Given the description of an element on the screen output the (x, y) to click on. 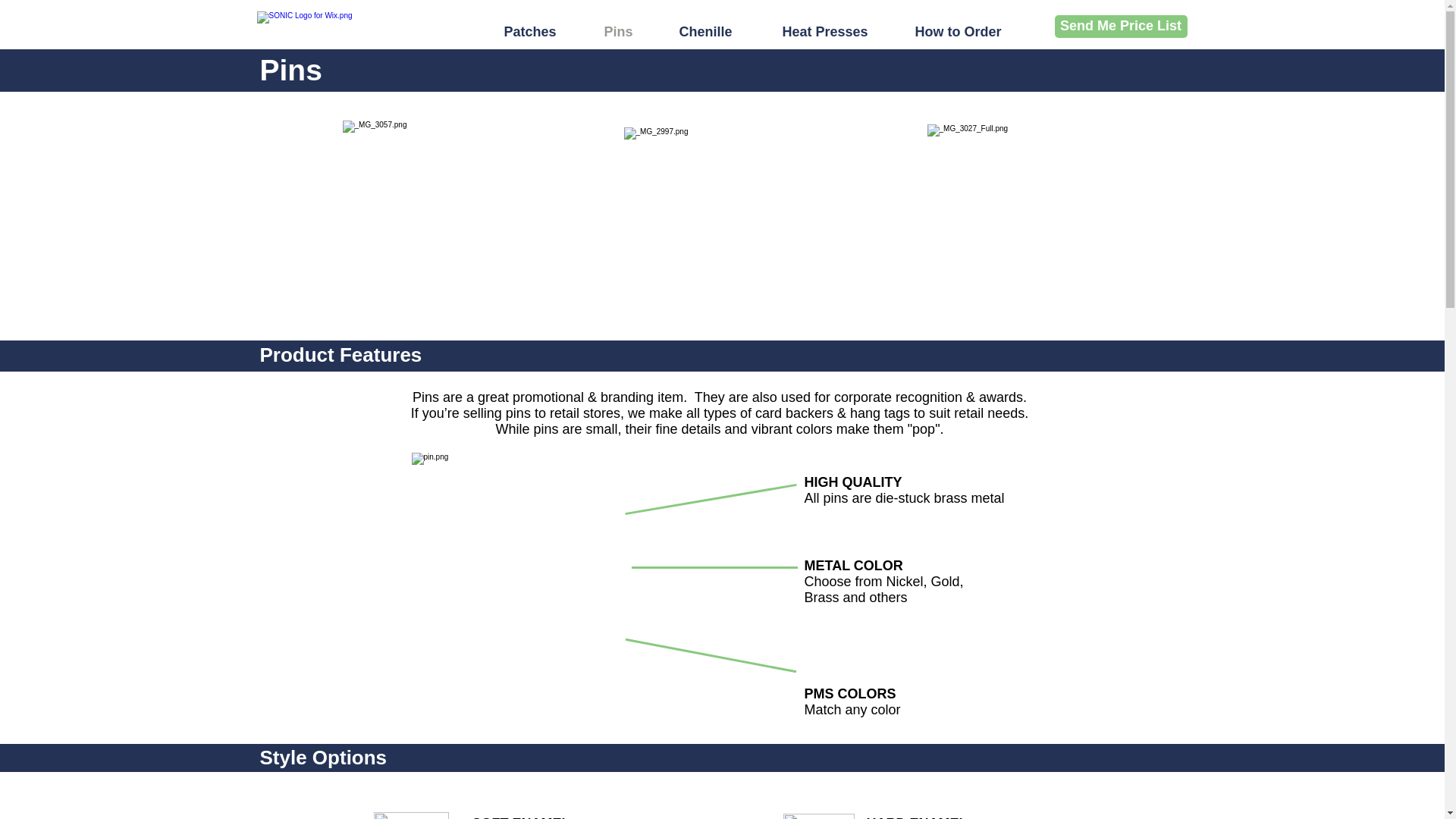
Chenille (713, 28)
How to Order (965, 28)
Send Me Price List (1120, 26)
Patches (536, 28)
SONIC Logo.png (356, 28)
Heat Presses (831, 28)
Pins (624, 28)
